Given the description of an element on the screen output the (x, y) to click on. 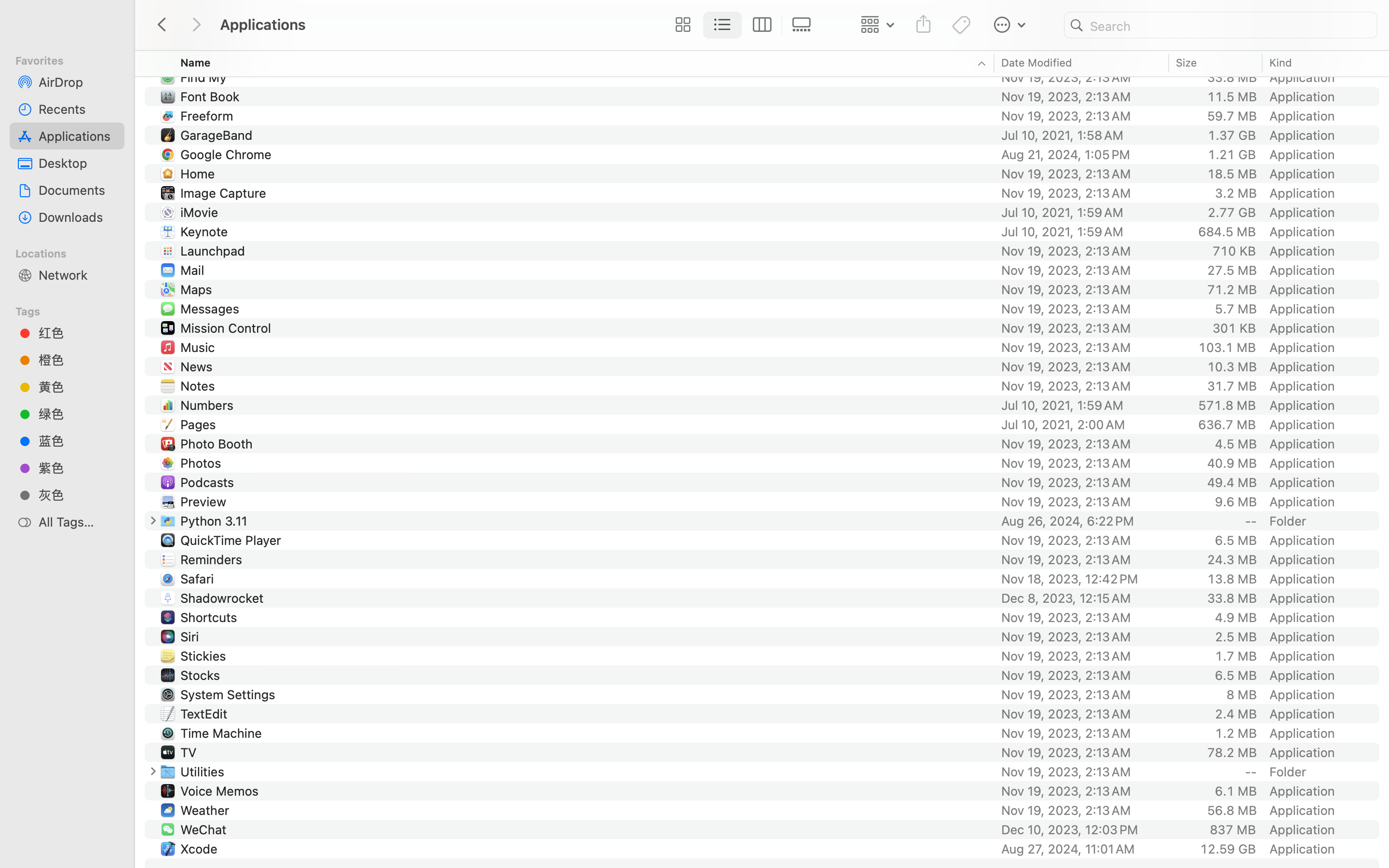
14.1 MB Element type: AXStaticText (1231, 19)
2.77 GB Element type: AXStaticText (1231, 211)
27.5 MB Element type: AXStaticText (1231, 269)
6.1 MB Element type: AXStaticText (1235, 790)
1 Element type: AXRadioButton (722, 24)
